Given the description of an element on the screen output the (x, y) to click on. 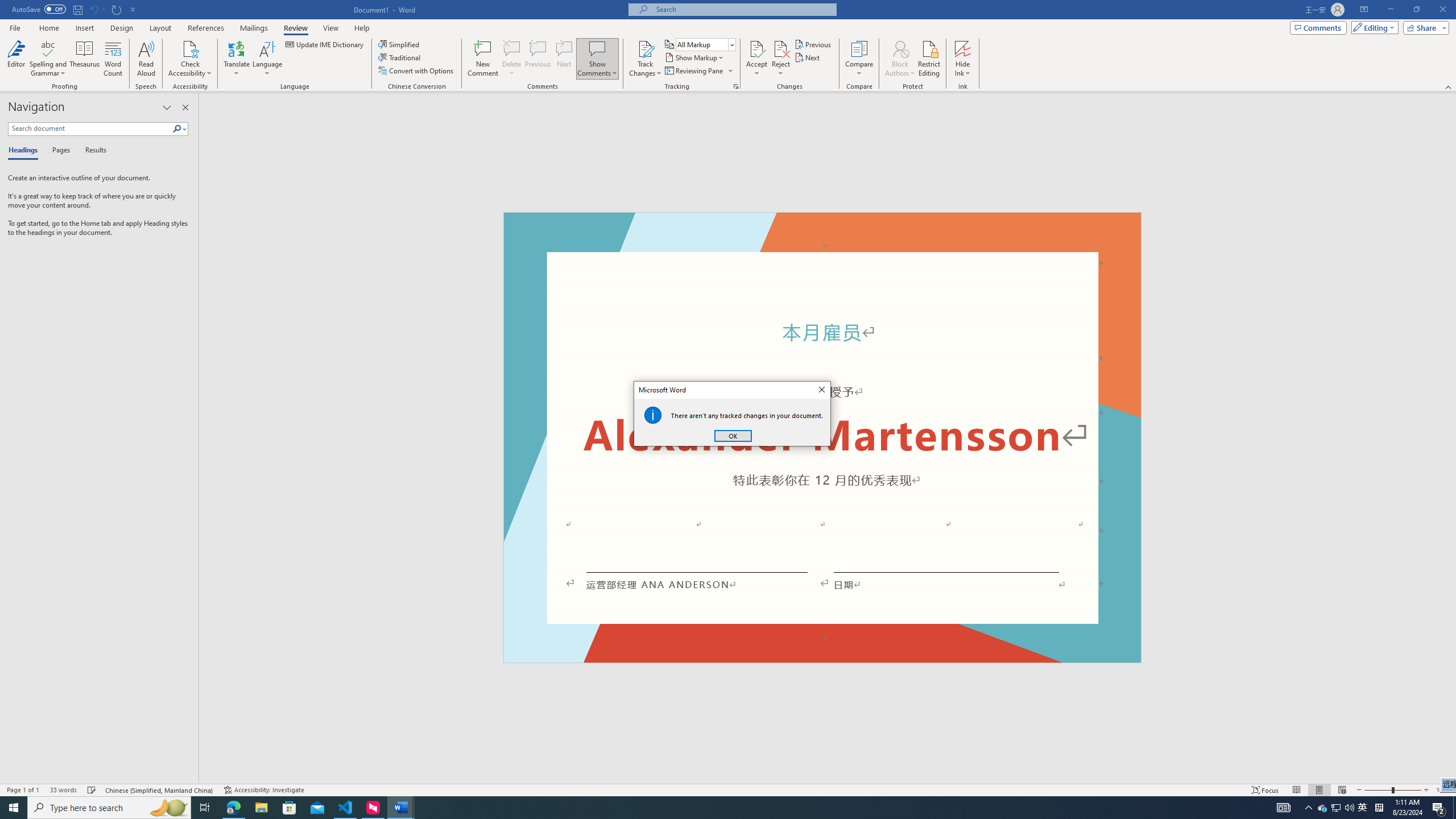
Save (77, 9)
Convert with Options... (417, 69)
Quick Access Toolbar (74, 9)
View (330, 28)
Class: NetUIImage (177, 128)
Reviewing Pane (694, 69)
Page Number Page 1 of 1 (22, 790)
Task Pane Options (167, 107)
Notification Chevron (1308, 807)
Running applications (700, 807)
Can't Undo (92, 9)
Track Changes (644, 48)
Results (91, 150)
